Given the description of an element on the screen output the (x, y) to click on. 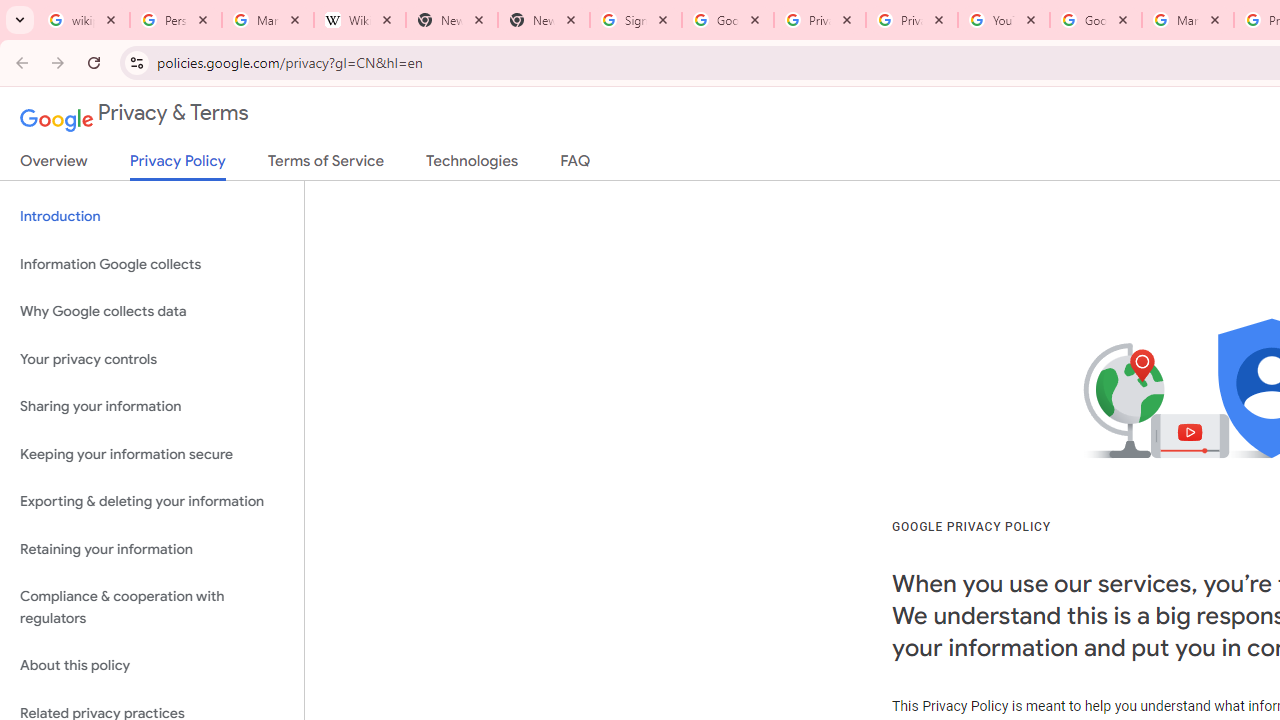
New Tab (451, 20)
Google Drive: Sign-in (728, 20)
